Given the description of an element on the screen output the (x, y) to click on. 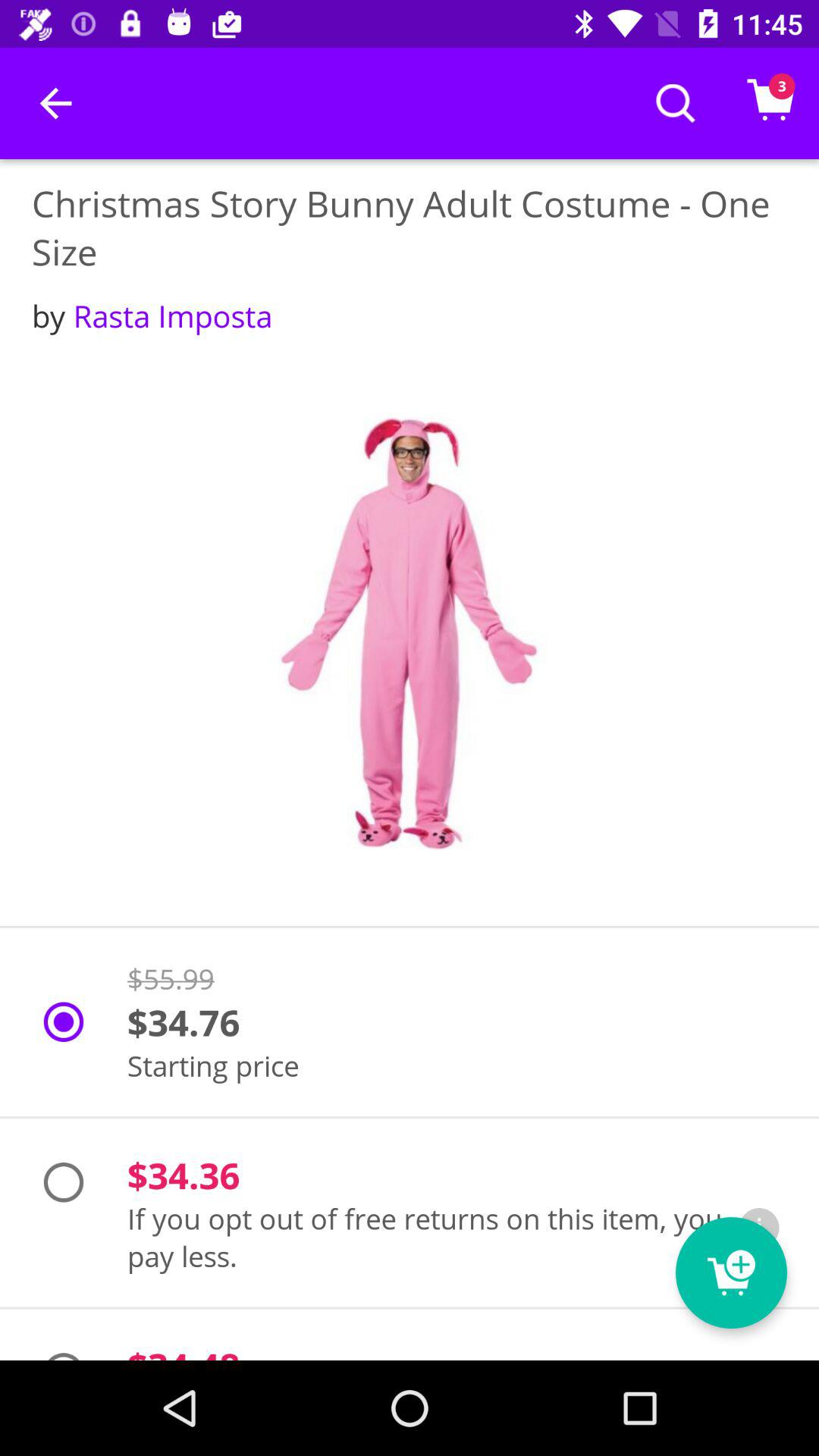
click icon next to the $34.48 (731, 1272)
